Given the description of an element on the screen output the (x, y) to click on. 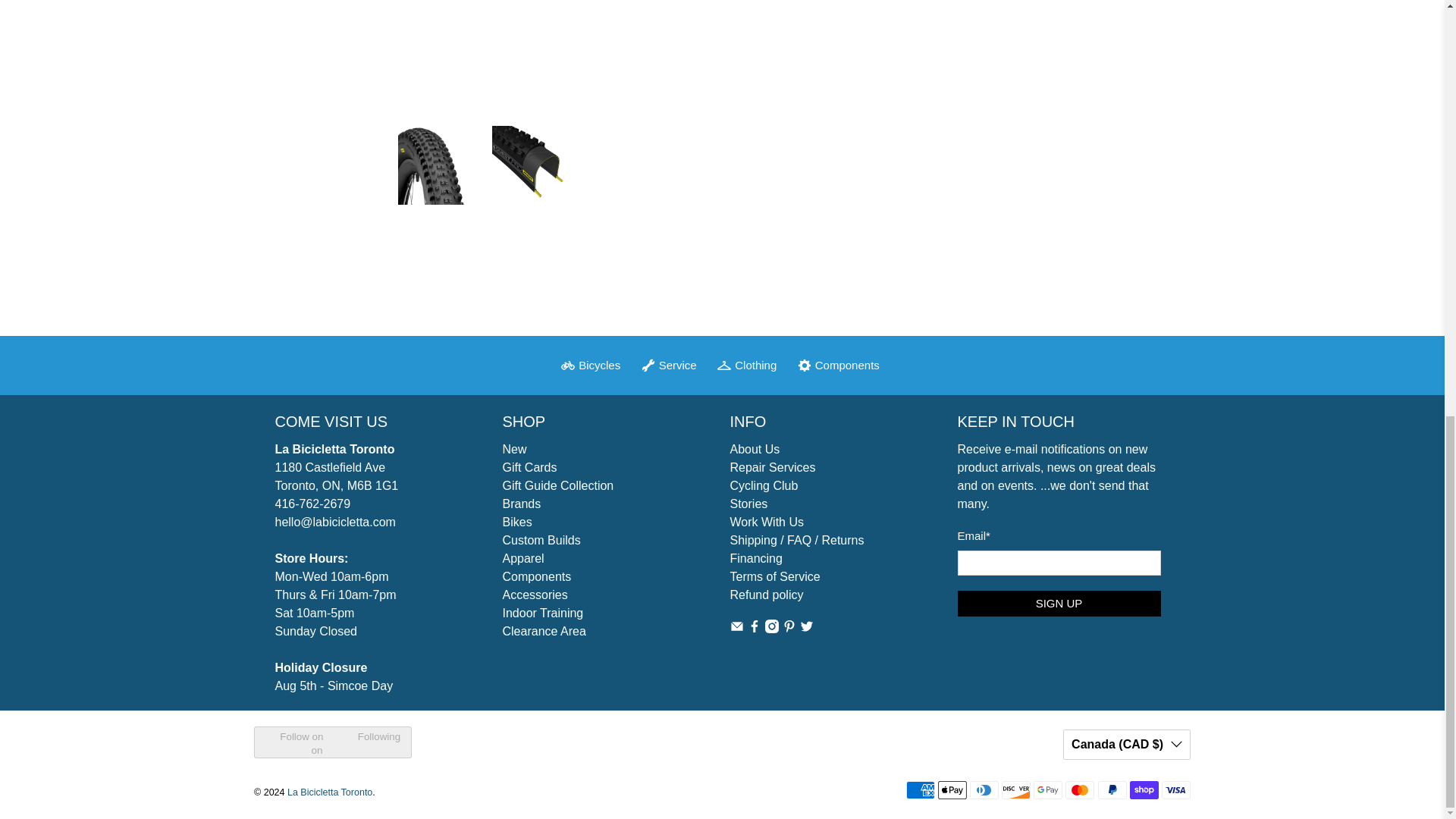
American Express (919, 790)
Email La Bicicletta Toronto (735, 628)
